Given the description of an element on the screen output the (x, y) to click on. 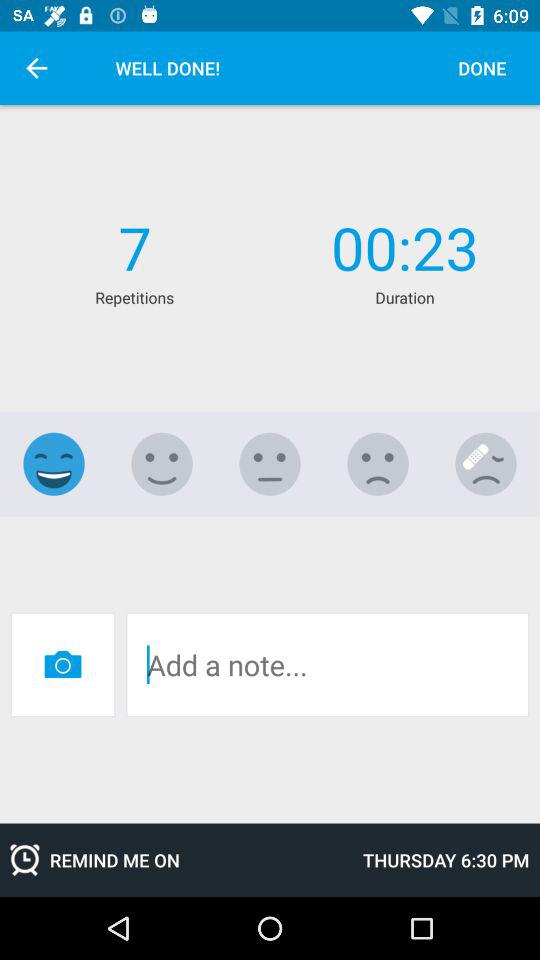
slightly dislike select (378, 463)
